Given the description of an element on the screen output the (x, y) to click on. 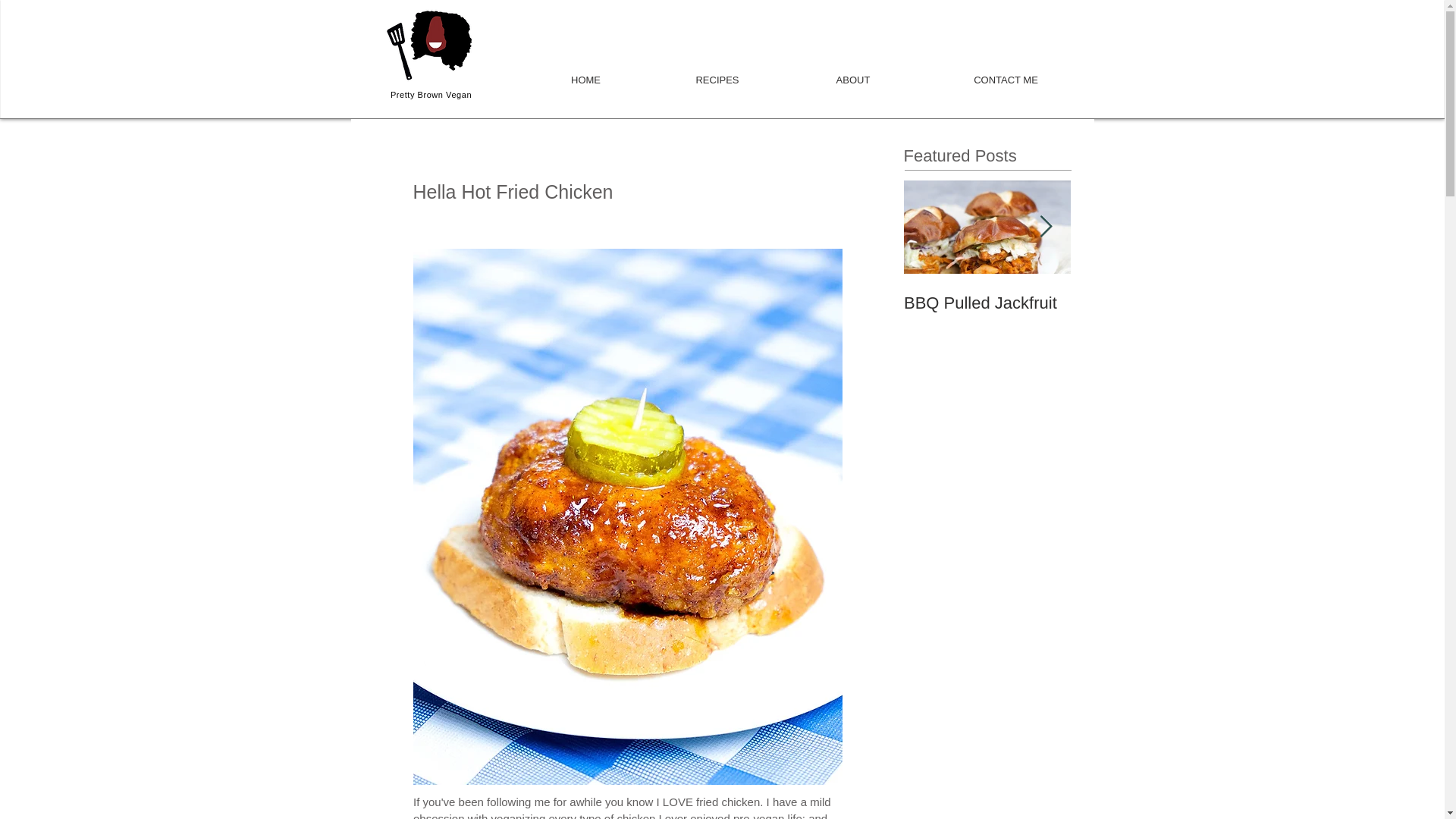
CONTACT ME (1005, 73)
BBQ Pulled Jackfruit (987, 302)
ABOUT (853, 73)
RECIPES (716, 73)
HOME (585, 73)
